Given the description of an element on the screen output the (x, y) to click on. 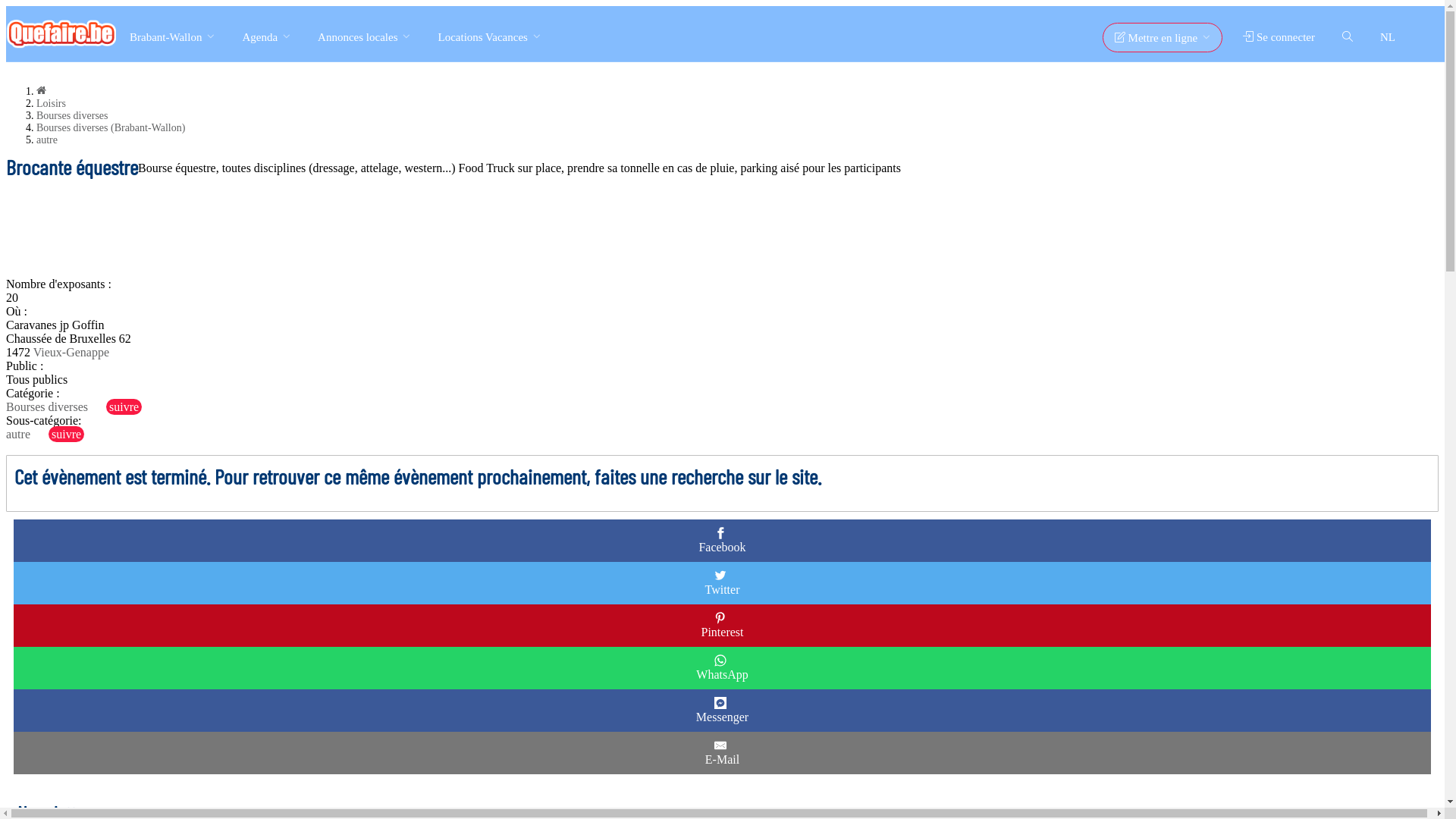
autre Element type: text (46, 139)
Brabant-Wallon Element type: text (171, 36)
WhatsApp Element type: text (721, 667)
NL Element type: text (1387, 36)
Annonces locales Element type: text (363, 36)
Messenger Element type: text (722, 710)
Facebook Element type: text (721, 540)
E-Mail Element type: text (722, 752)
Twitter Element type: text (722, 582)
suivre Element type: text (123, 406)
Vieux-Genappe Element type: text (71, 351)
Pinterest Element type: text (721, 625)
Bourses diverses (Brabant-Wallon) Element type: text (110, 127)
Loisirs Element type: text (50, 103)
Bourses diverses Element type: text (46, 406)
Locations Vacances Element type: text (488, 36)
Mettre en ligne Element type: text (1162, 37)
Agenda Element type: text (265, 36)
suivre Element type: text (66, 434)
Se connecter Element type: text (1278, 36)
Bourses diverses Element type: text (72, 115)
autre Element type: text (18, 433)
